Given the description of an element on the screen output the (x, y) to click on. 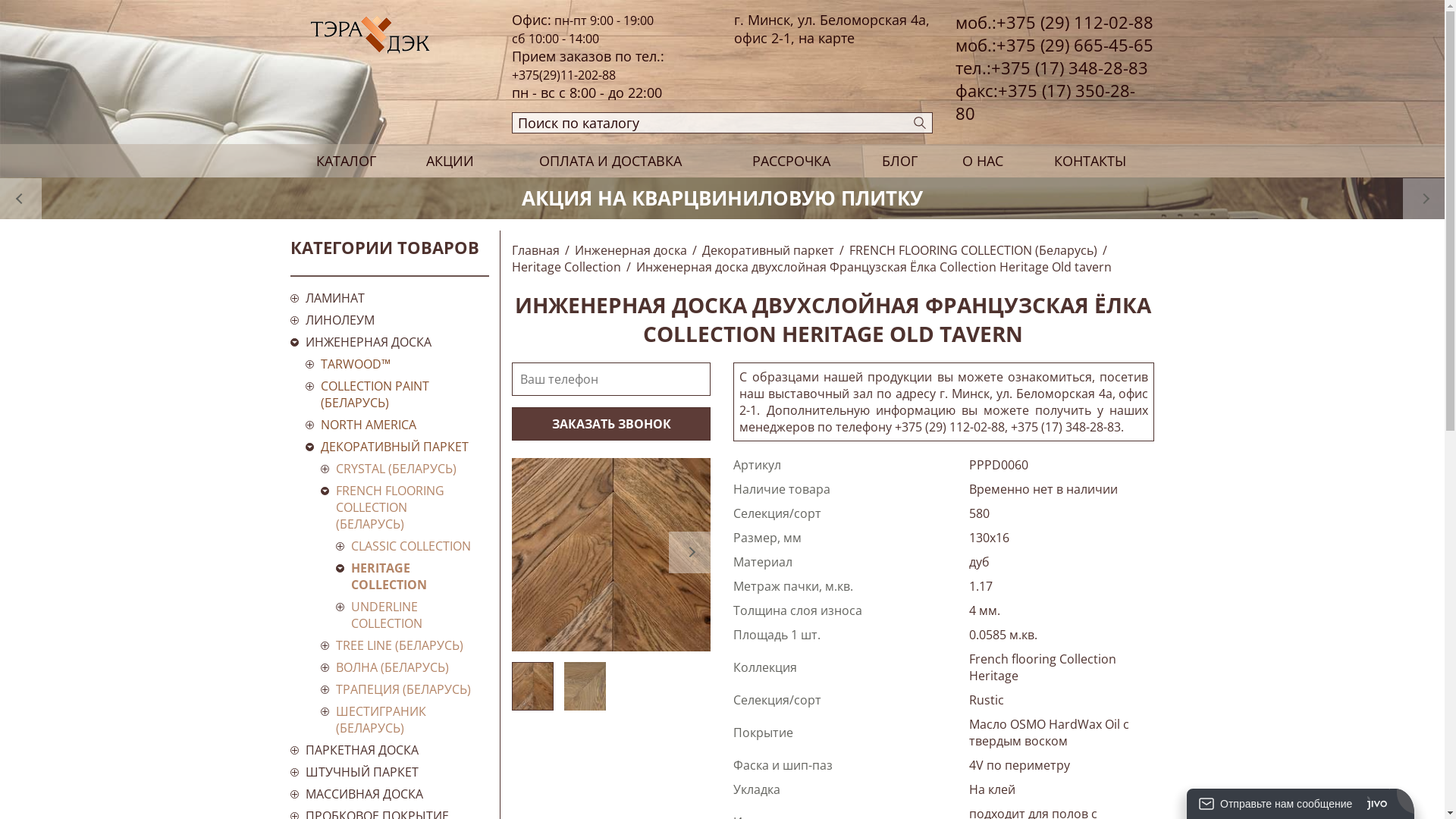
CLASSIC COLLECTION Element type: text (411, 545)
HERITAGE COLLECTION Element type: text (411, 575)
Prev Element type: text (20, 198)
Heritage Collection Element type: text (566, 266)
NORTH AMERICA Element type: text (396, 424)
UNDERLINE COLLECTION Element type: text (411, 614)
Next Element type: text (1423, 198)
Next Element type: text (689, 552)
+375 (29) 665-45-65 Element type: text (1074, 44)
+375 (17) 348-28-83 Element type: text (1069, 67)
+375 (29) 112-02-88 Element type: text (1074, 21)
+375 (17) 350-28-80 Element type: text (1045, 101)
